Given the description of an element on the screen output the (x, y) to click on. 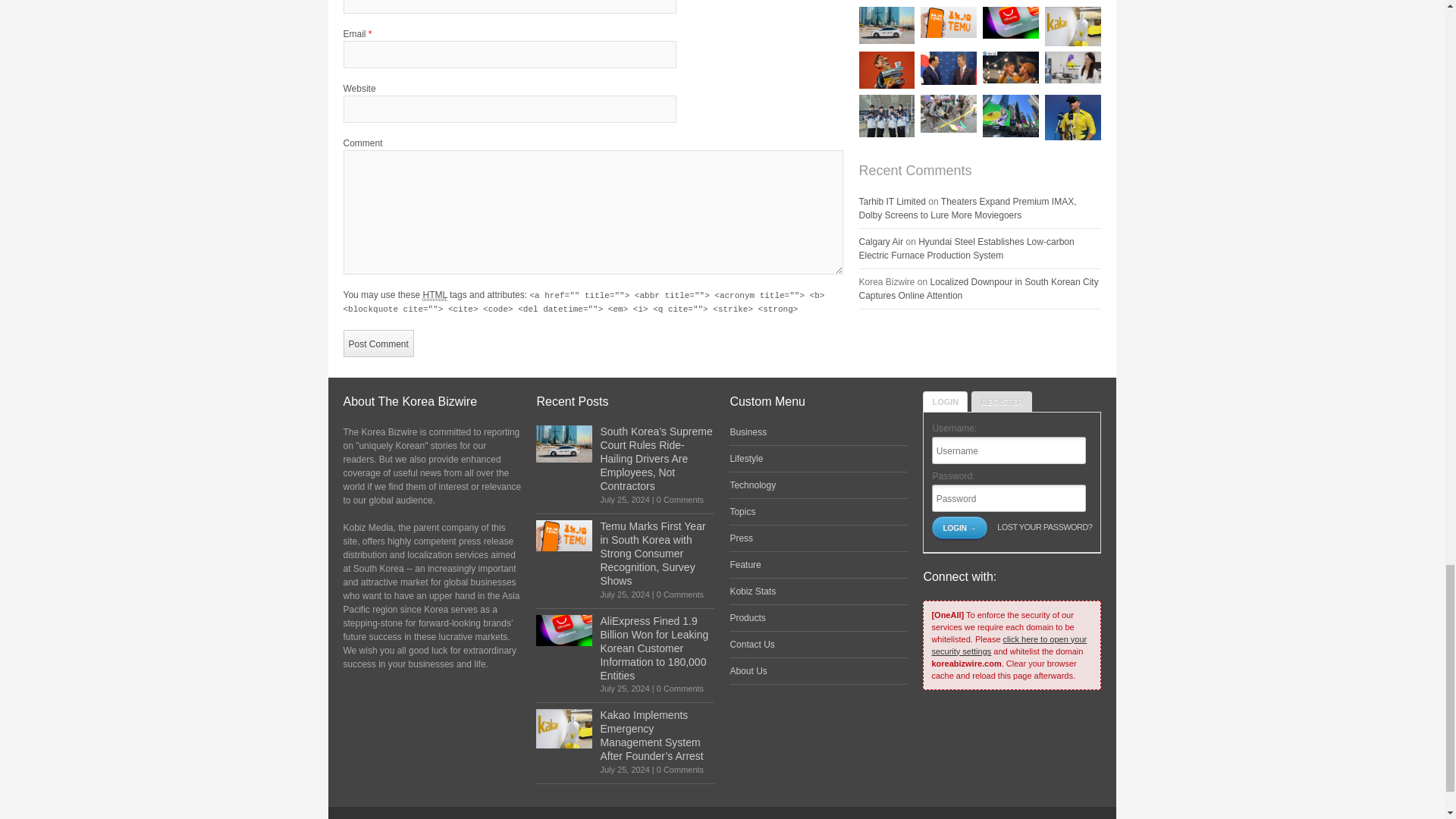
Post Comment (377, 343)
